Given the description of an element on the screen output the (x, y) to click on. 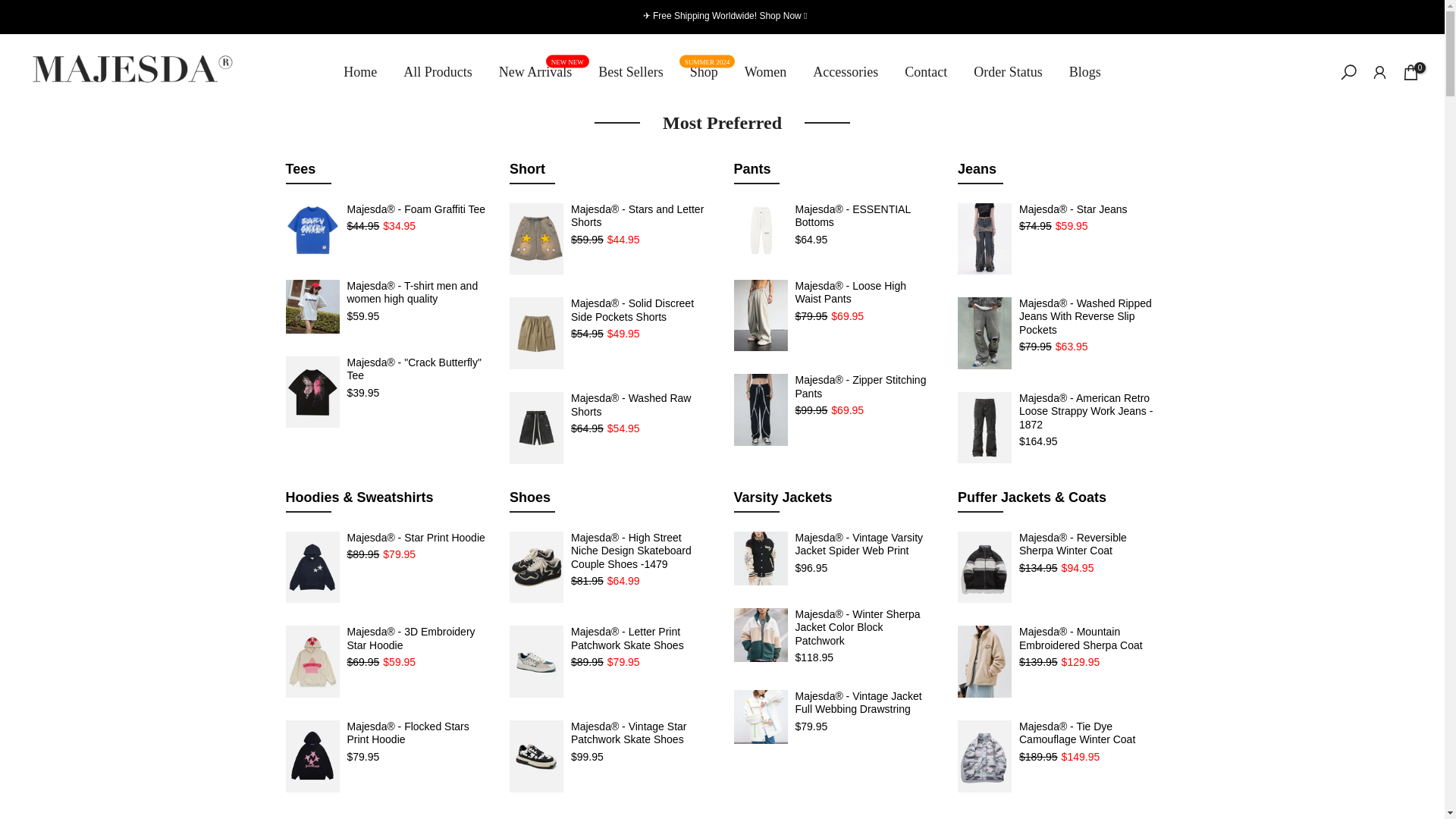
Best Sellers (703, 71)
Skip to content (631, 71)
Women (10, 7)
All Products (764, 71)
Home (438, 71)
